Given the description of an element on the screen output the (x, y) to click on. 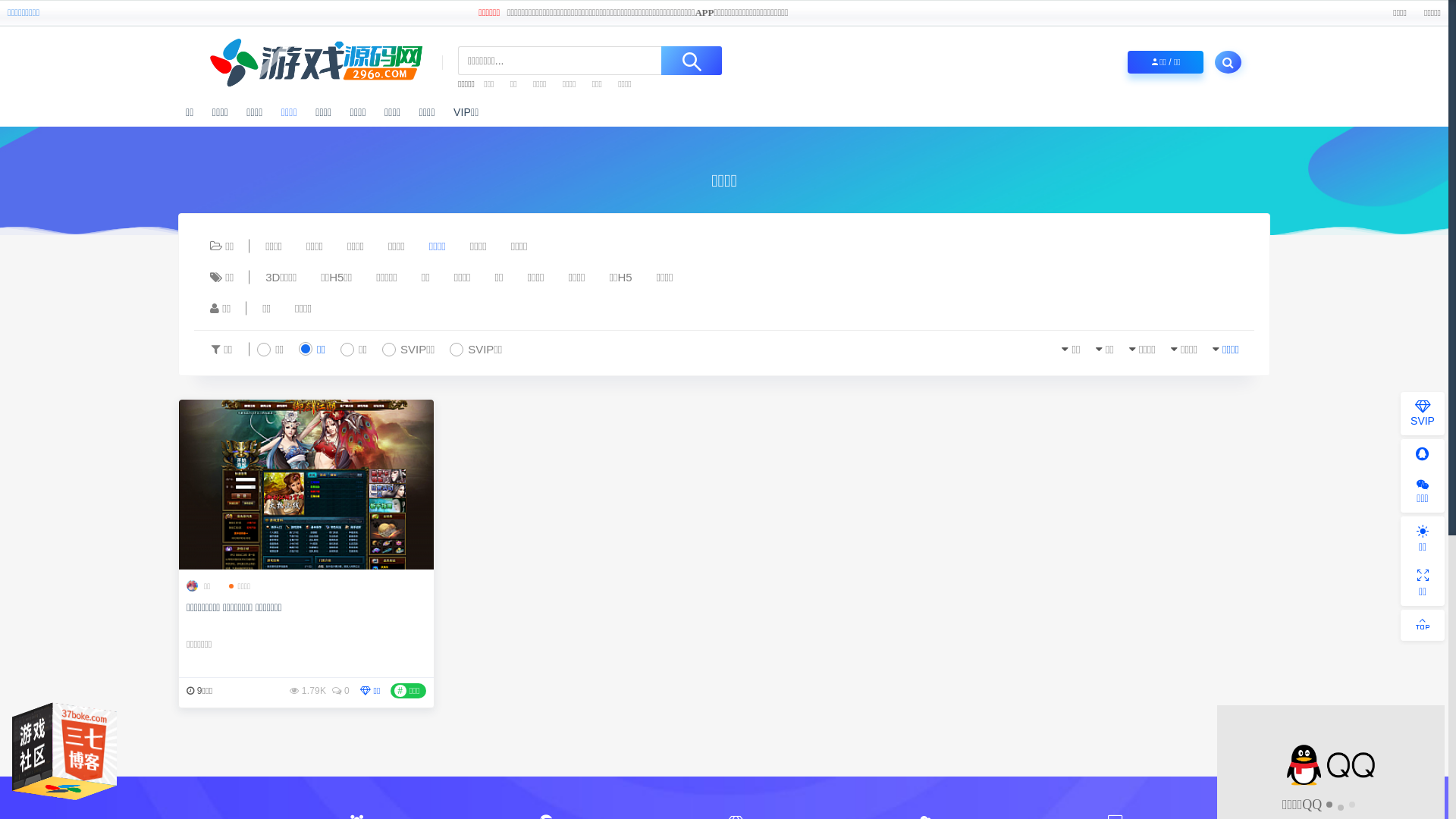
37boke.com Element type: hover (132, 745)
SVIP Element type: text (1422, 413)
